Given the description of an element on the screen output the (x, y) to click on. 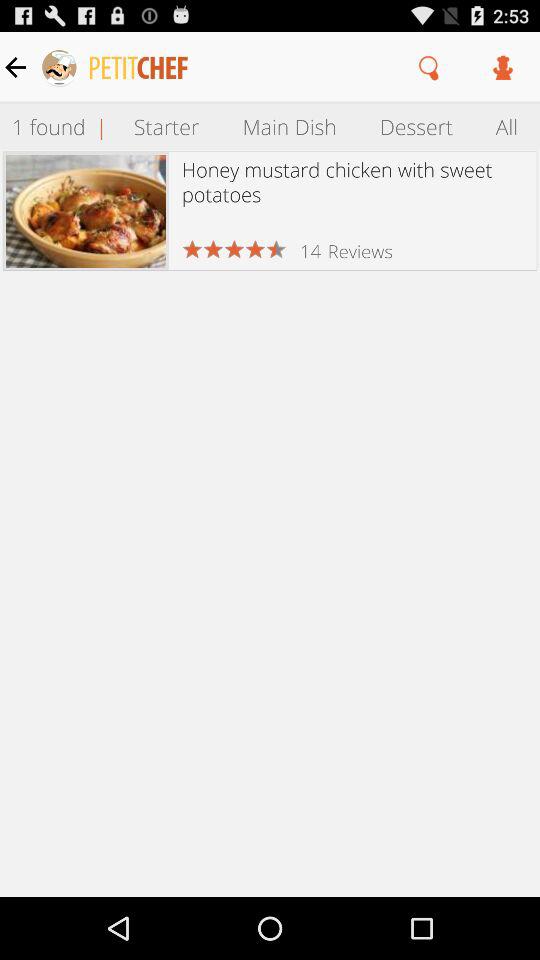
turn on all item (507, 126)
